Given the description of an element on the screen output the (x, y) to click on. 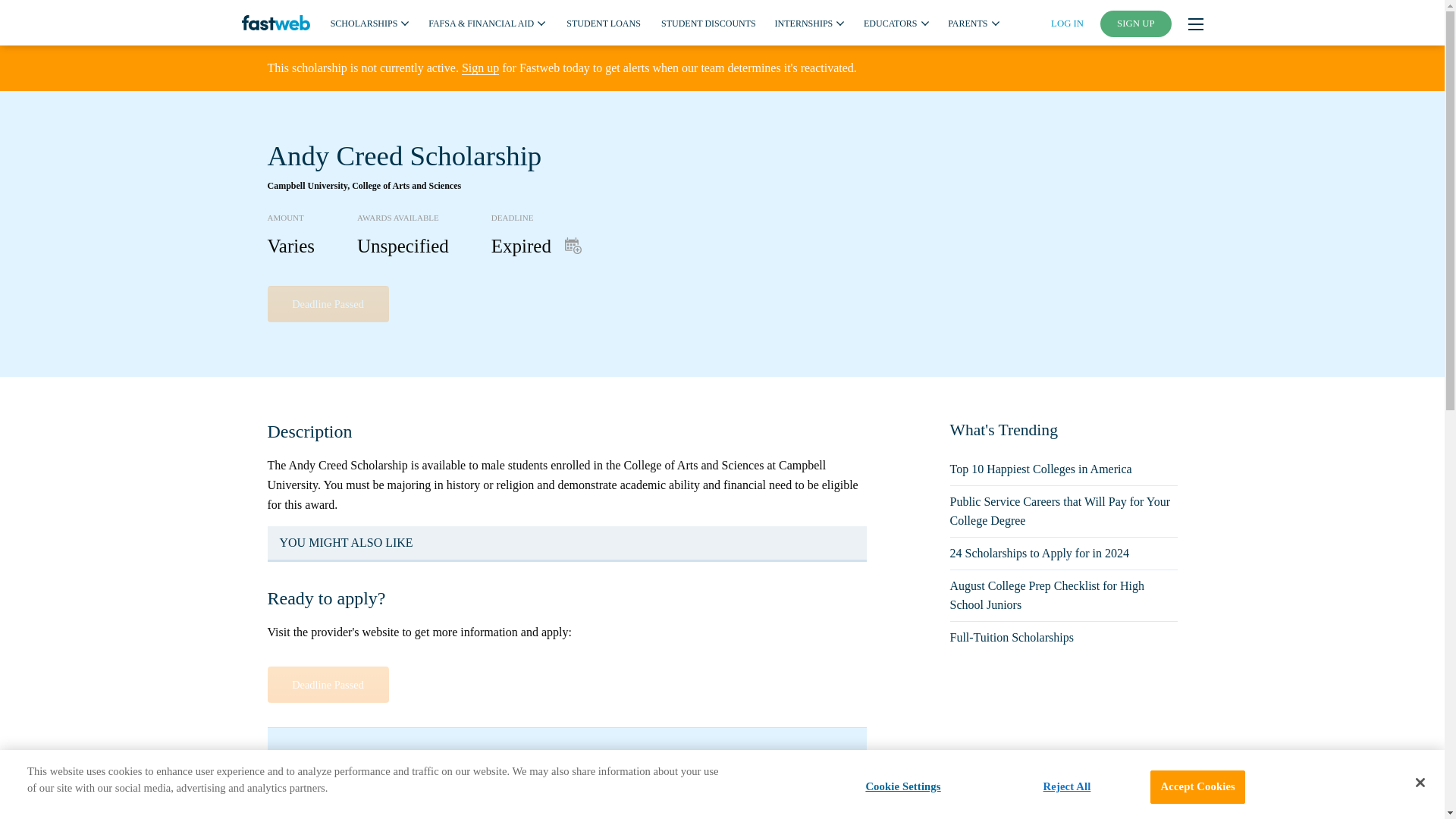
STUDENT LOANS (603, 22)
STUDENT DISCOUNTS (708, 22)
SIGN UP (1136, 23)
LOG IN (1067, 23)
